Given the description of an element on the screen output the (x, y) to click on. 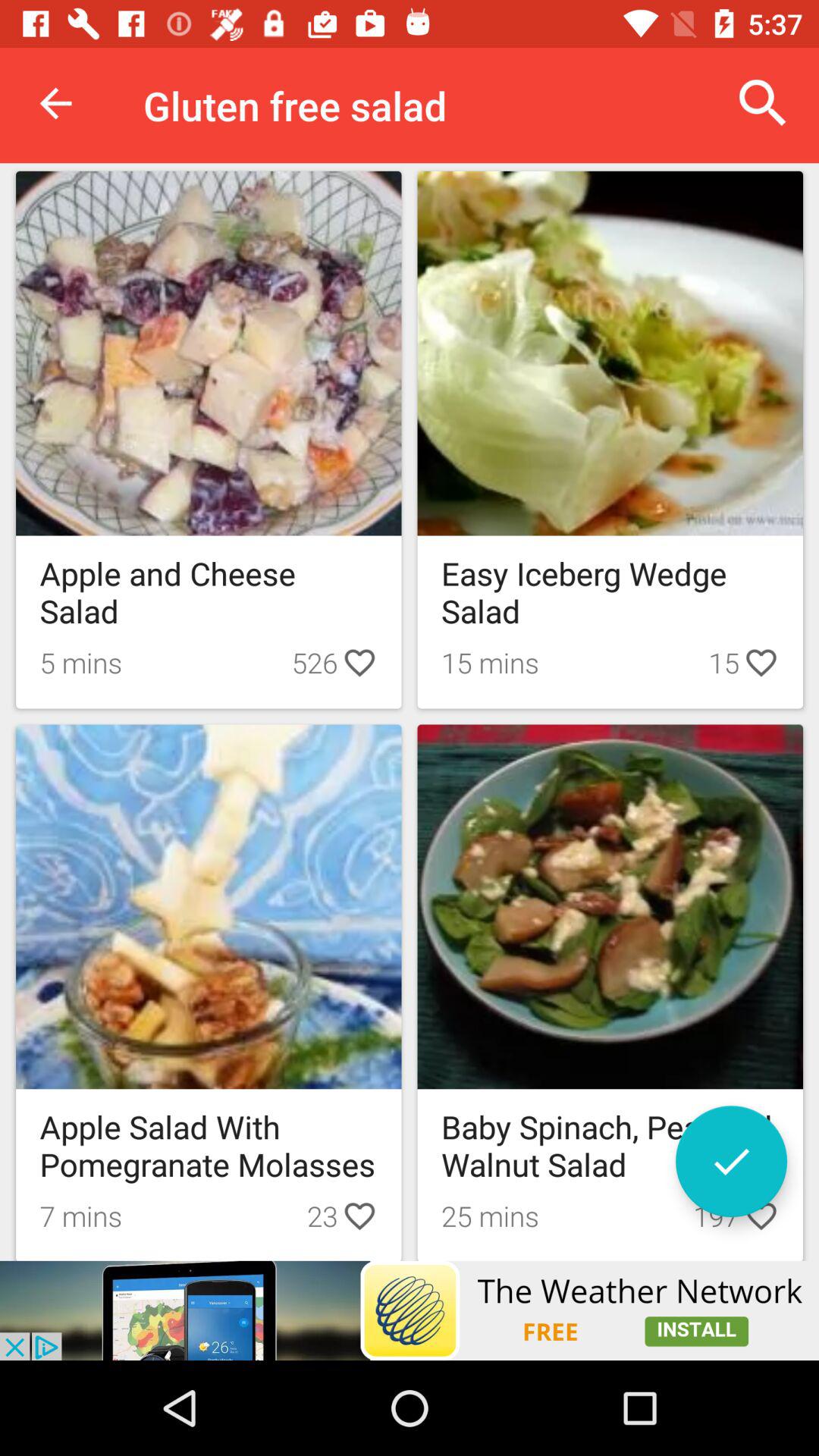
advertisement tp install the weather network (409, 1310)
